Given the description of an element on the screen output the (x, y) to click on. 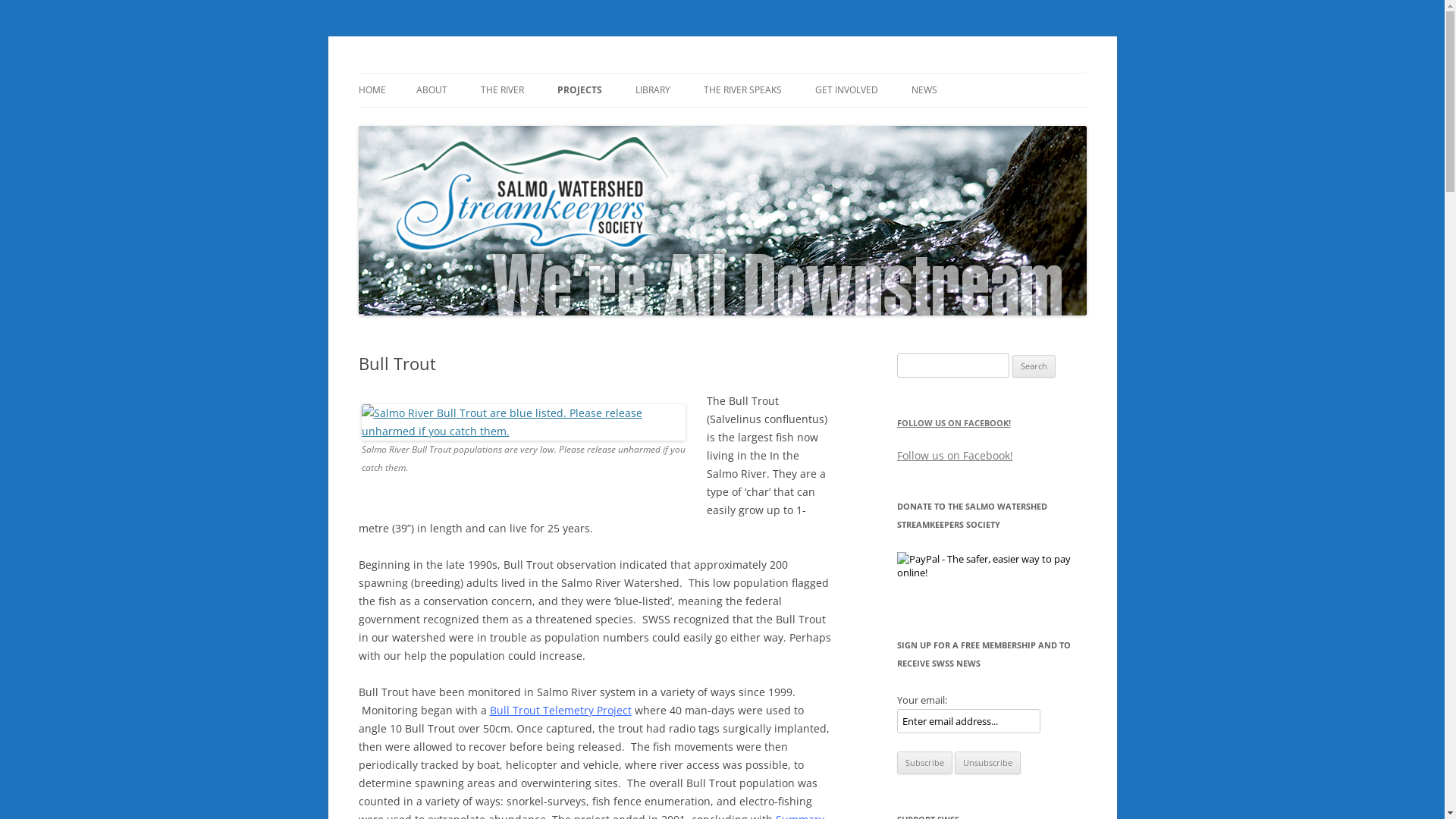
THE RIVER Element type: text (502, 89)
OUTREACH Element type: text (711, 122)
NEWS Element type: text (924, 89)
MY FRIEND THE RIVER Element type: text (779, 122)
BULL TROUT Element type: text (632, 122)
BECOME A MEMBER Element type: text (890, 122)
ANGLER INFORMATION Element type: text (556, 122)
Salmo Watershed Streamkeepers Society Element type: text (558, 72)
FOLLOW US ON FACEBOOK! Element type: text (953, 422)
Subscribe Element type: text (923, 762)
GET INVOLVED Element type: text (845, 89)
NOTICE Element type: text (987, 122)
HOME Element type: text (371, 89)
Follow us on Facebook! Element type: text (954, 455)
THE RIVER SPEAKS Element type: text (742, 89)
Unsubscribe Element type: text (986, 762)
Bull Trout Telemetry Project Element type: text (560, 709)
AWARDS Element type: text (491, 122)
ABOUT Element type: text (430, 89)
Skip to content Element type: text (721, 72)
Search Element type: text (1033, 365)
LIBRARY Element type: text (652, 89)
PROJECTS Element type: text (578, 89)
